Given the description of an element on the screen output the (x, y) to click on. 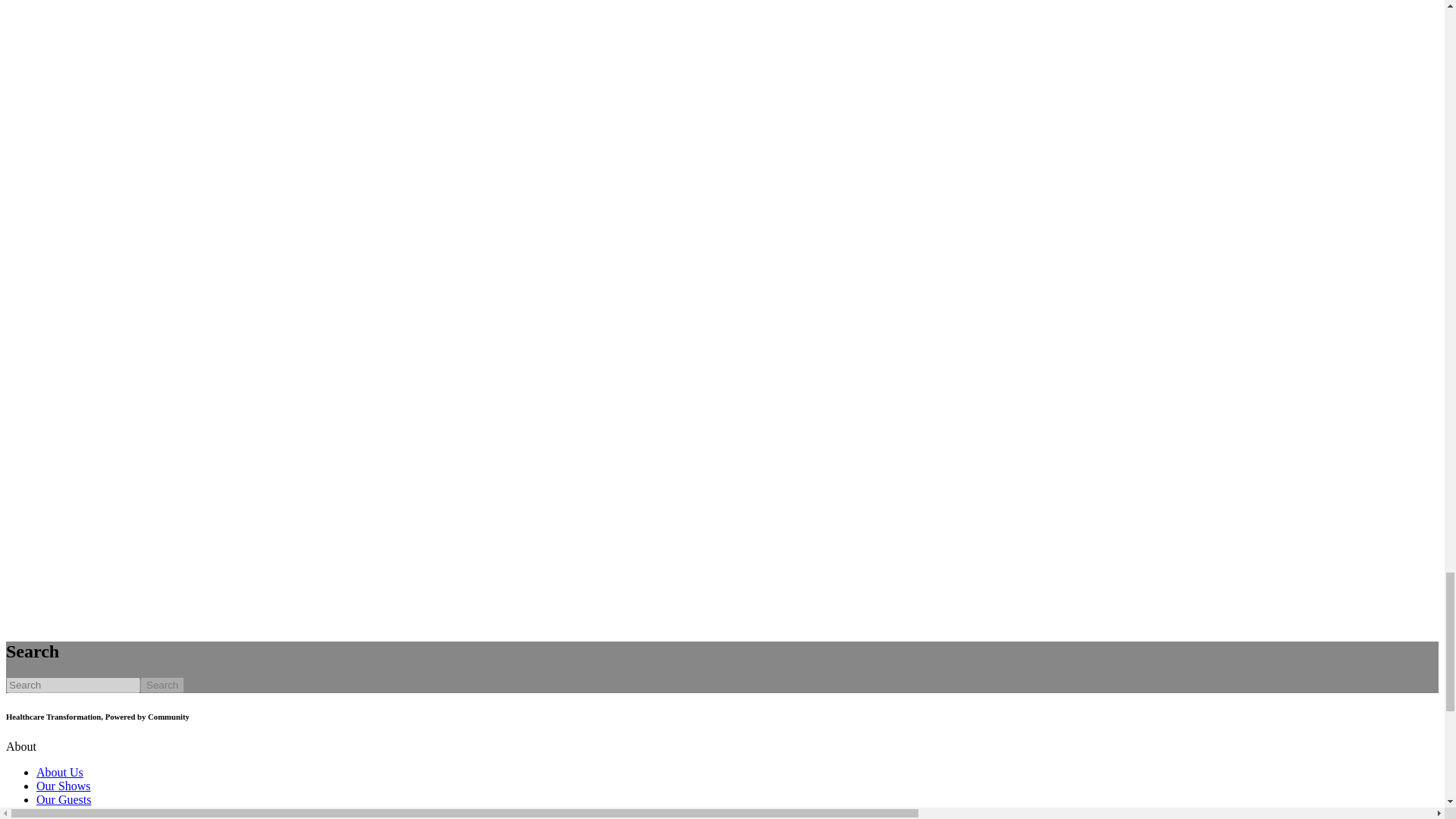
Our Guests (63, 799)
About Us (59, 771)
Our Sponsors (69, 812)
Our Shows (63, 785)
Search (161, 684)
